Given the description of an element on the screen output the (x, y) to click on. 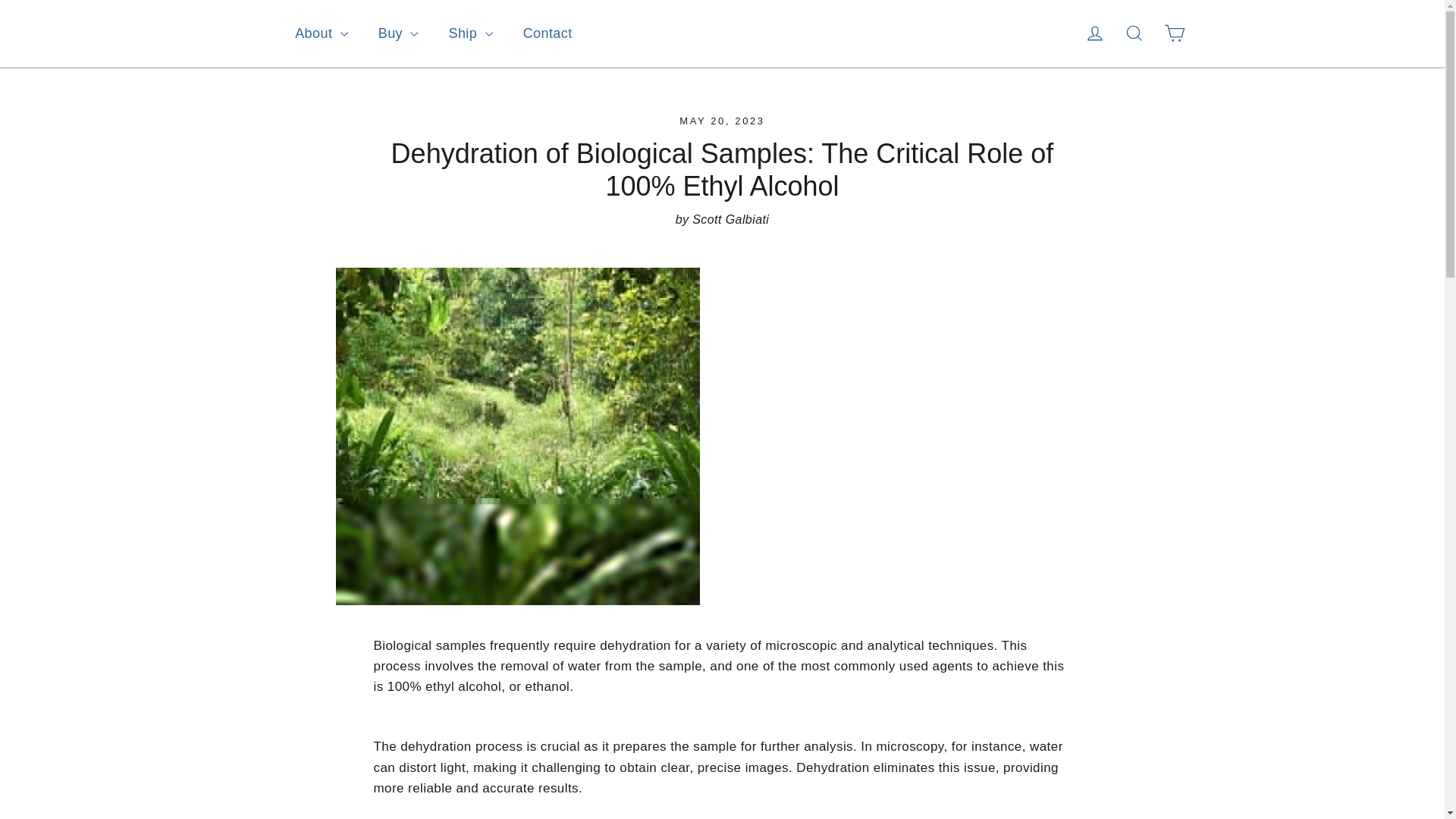
About (320, 33)
